Given the description of an element on the screen output the (x, y) to click on. 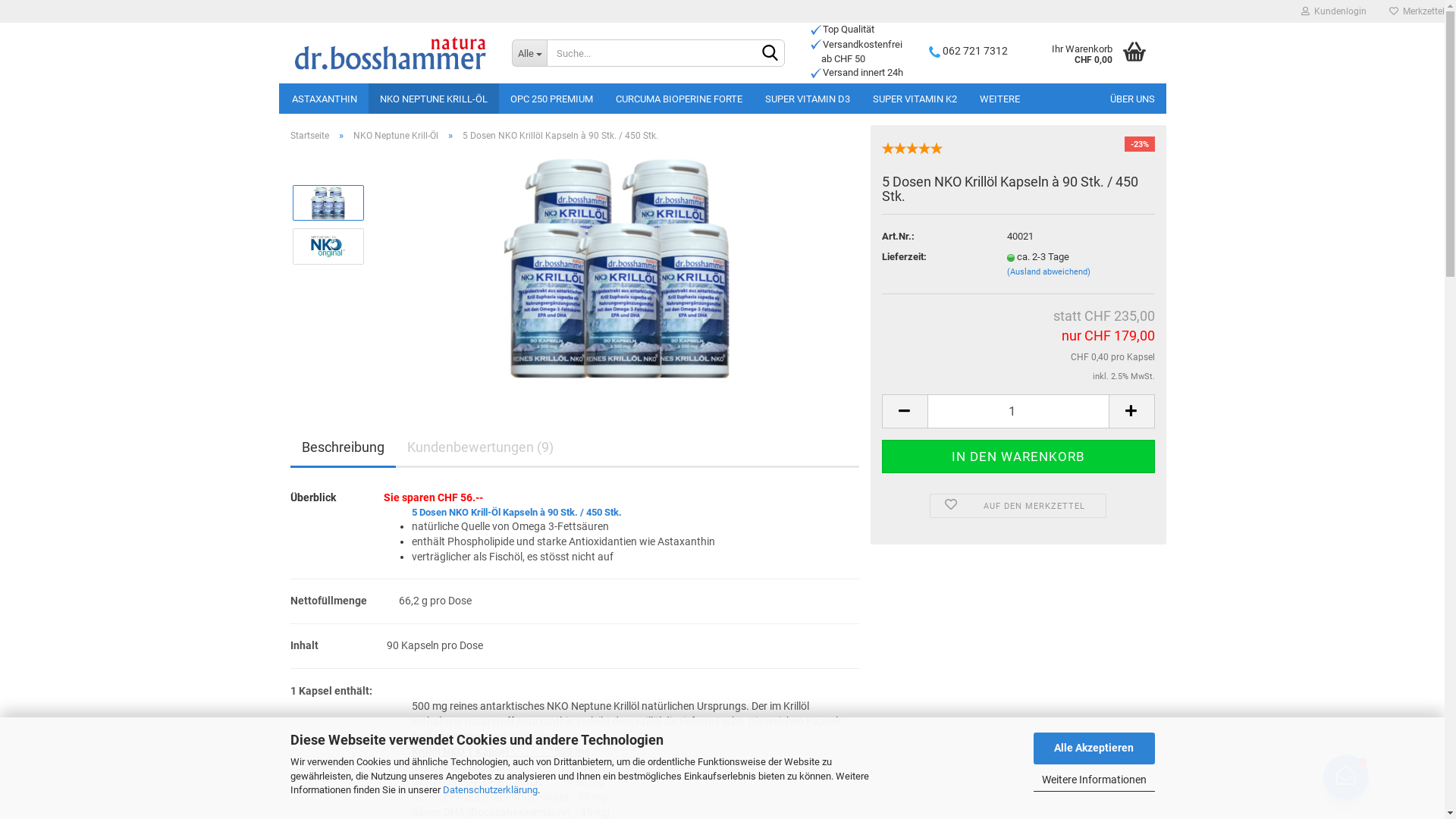
Weitere Informationen Element type: text (1093, 780)
(Ausland abweichend) Element type: text (1048, 271)
SUPER VITAMIN D3 Element type: text (807, 98)
OPC 250 PREMIUM Element type: text (551, 98)
Kundenbewertungen (9) Element type: text (479, 448)
In den Warenkorb Element type: text (1017, 456)
Newsletter Anmeldung Element type: hover (1345, 777)
CURCUMA BIOPERINE FORTE Element type: text (678, 98)
Alle Element type: text (528, 52)
Startseite Element type: text (308, 135)
In den Warenkorb Element type: hover (1017, 456)
SUPER VITAMIN K2 Element type: text (914, 98)
WEITERE Element type: text (998, 98)
 Kundenlogin Element type: text (1333, 11)
Anmelden Element type: text (1250, 185)
In 9 Rezensionen durchschnittlich mit 5 bewertet Element type: hover (911, 146)
Beschreibung Element type: text (342, 448)
dr. bosshammer natura Element type: hover (389, 52)
Alle Akzeptieren Element type: text (1093, 748)
AUF DEN MERKZETTEL Element type: text (1018, 505)
ASTAXANTHIN Element type: text (324, 98)
Ihr Warenkorb
CHF 0,00 Element type: text (1091, 52)
